Given the description of an element on the screen output the (x, y) to click on. 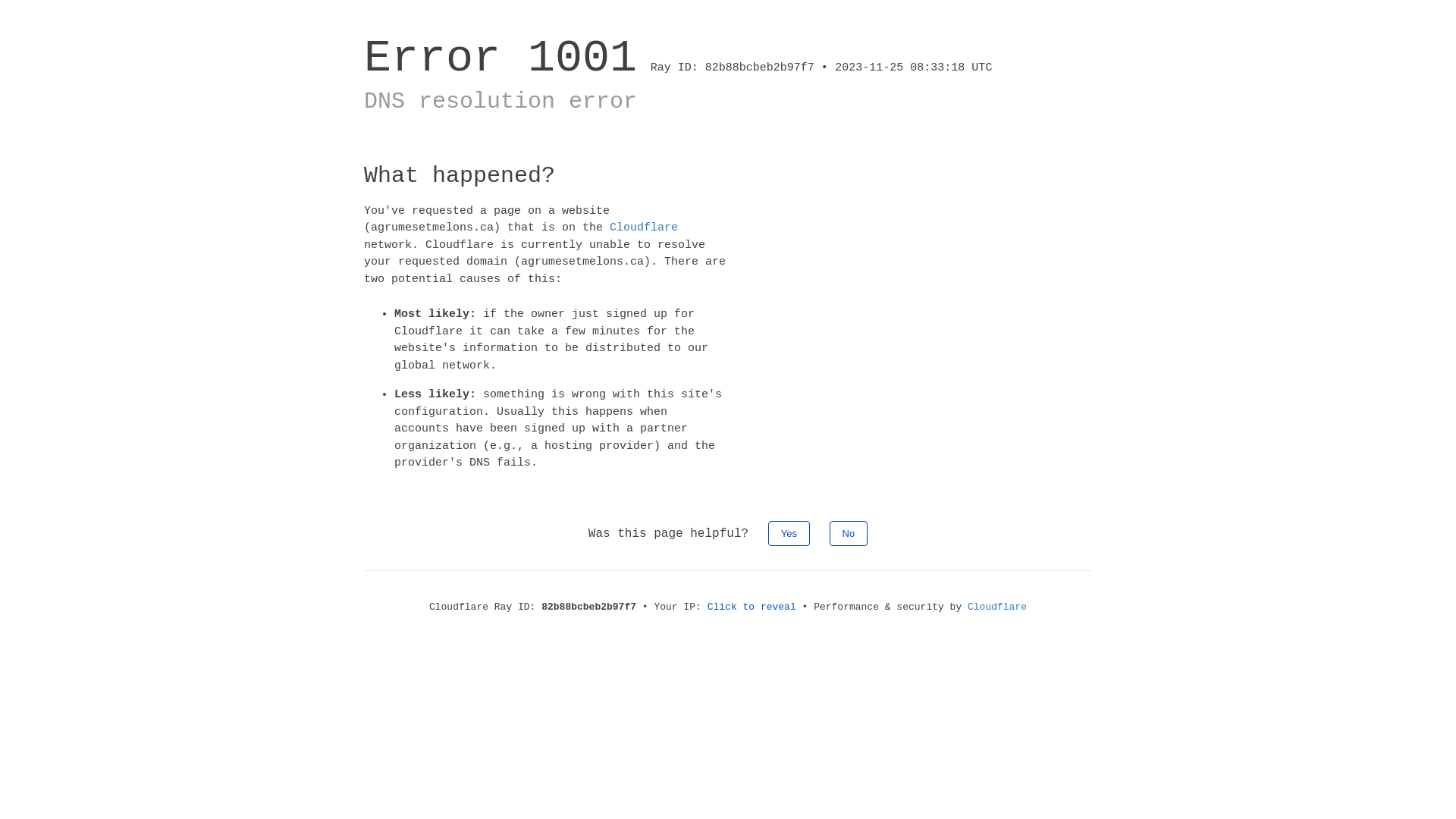
Cloudflare Element type: text (643, 227)
Cloudflare Element type: text (996, 605)
No Element type: text (848, 532)
Click to reveal Element type: text (751, 605)
Yes Element type: text (788, 532)
